Given the description of an element on the screen output the (x, y) to click on. 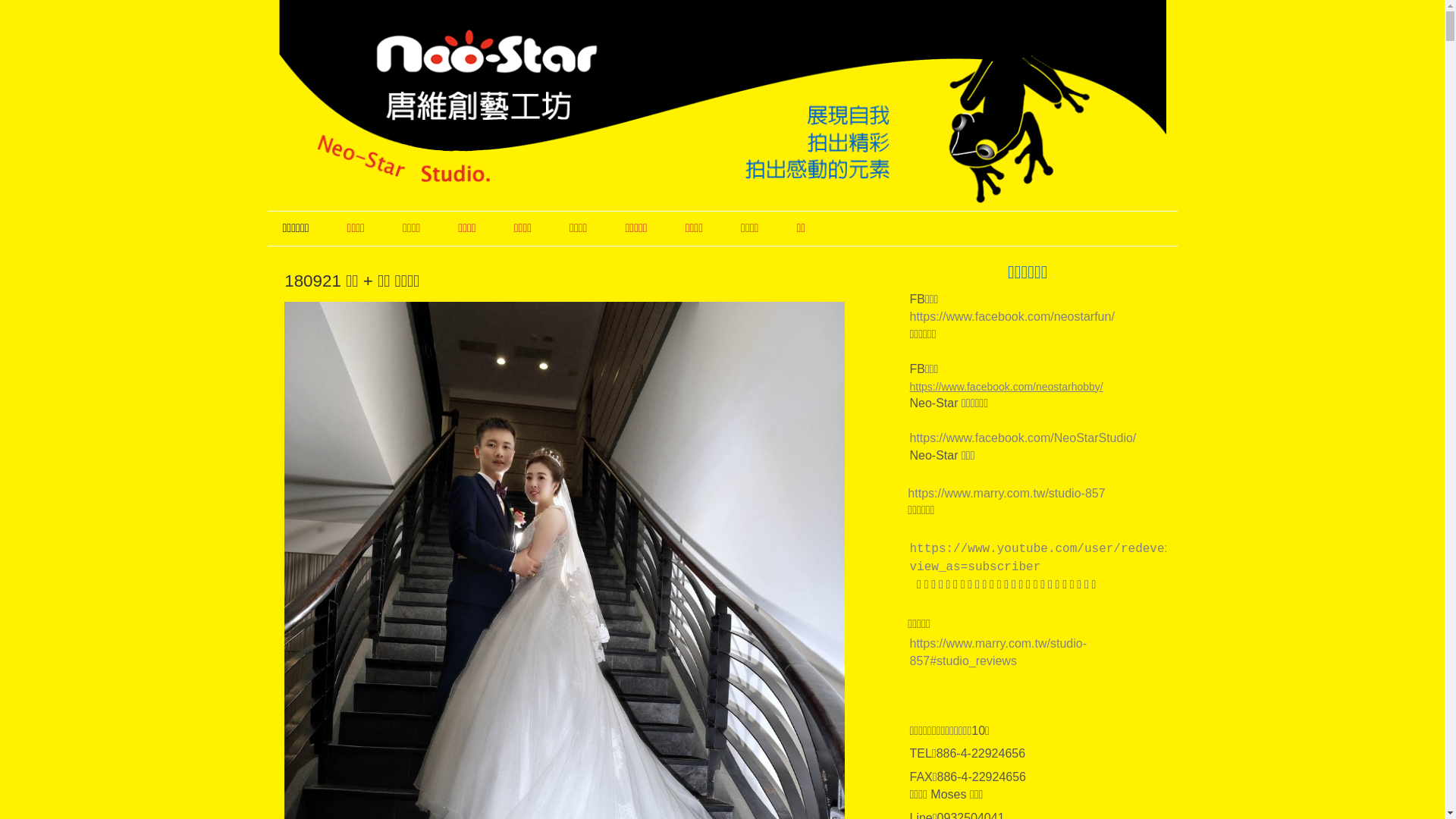
https://www.facebook.com/neostarfun/ Element type: text (1011, 316)
https://www.facebook.com/NeoStarStudio/ Element type: text (1022, 437)
https://www.facebook.com/neostarhobby/ Element type: text (1005, 386)
https://www.marry.com.tw/studio-857#studio_reviews Element type: text (997, 652)
https://www.marry.com.tw/studio-857 Element type: text (1005, 492)
